Given the description of an element on the screen output the (x, y) to click on. 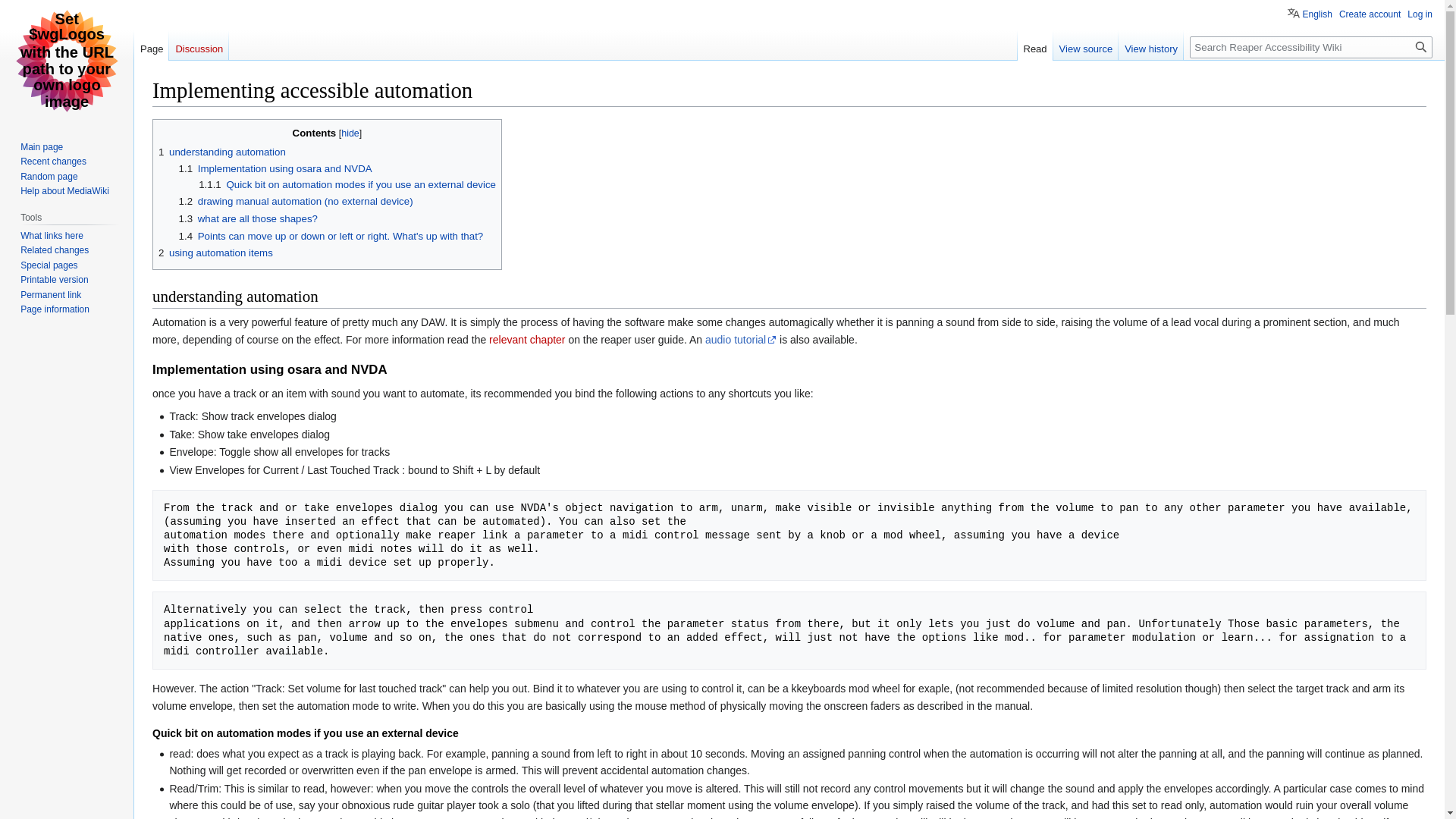
1.1 Implementation using osara and NVDA (275, 168)
What links here (51, 235)
English (1309, 11)
Special pages (48, 265)
Printable version (53, 279)
Recent changes (52, 161)
1.3 what are all those shapes? (248, 218)
Page (150, 45)
Main page (41, 146)
Visit the main page (66, 60)
Search (1420, 46)
Search (1420, 46)
Go (1420, 46)
audio tutorial (740, 339)
